Given the description of an element on the screen output the (x, y) to click on. 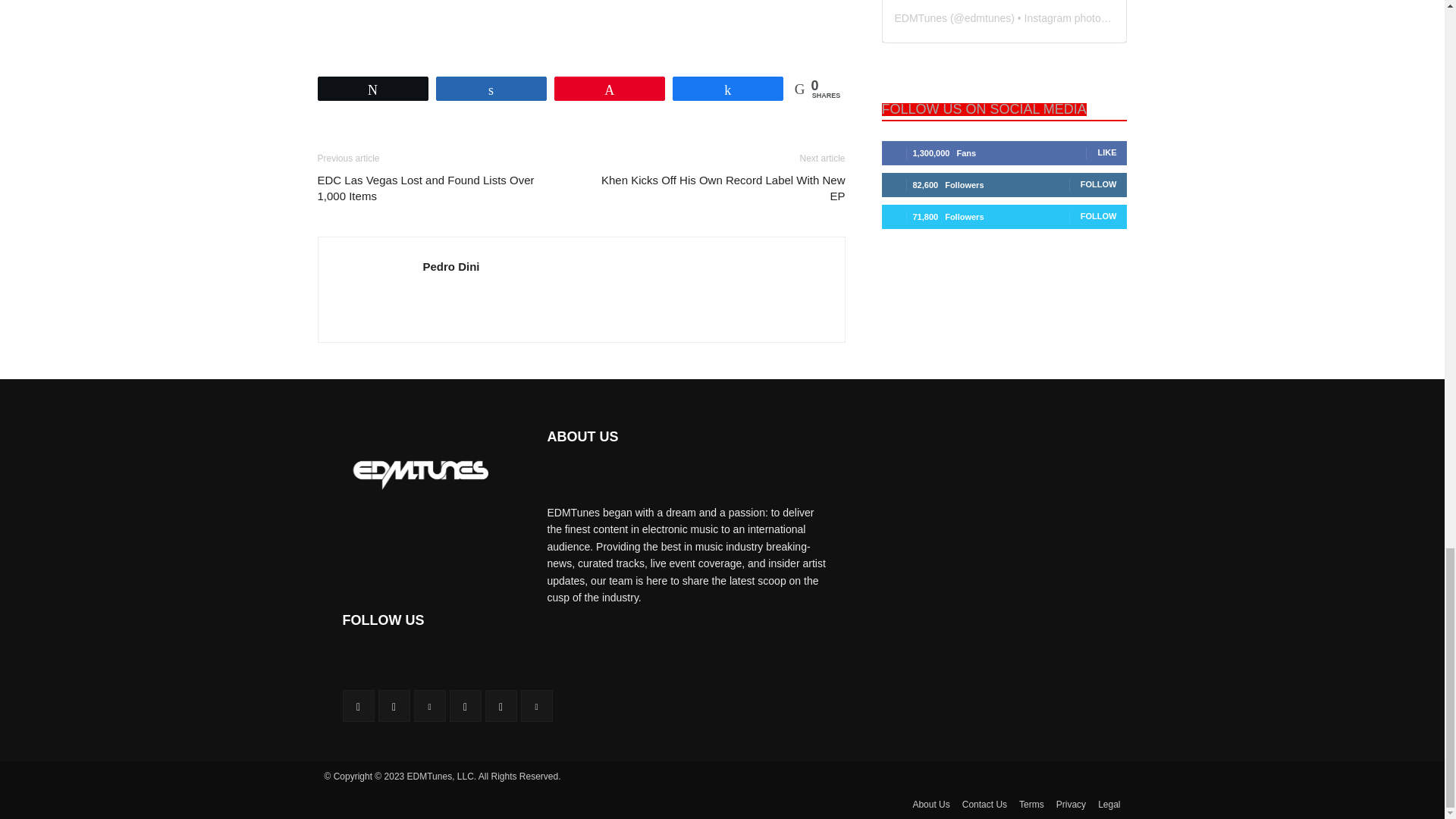
Spotify Embed: Levels (580, 25)
Instagram (393, 705)
Facebook (358, 705)
